Given the description of an element on the screen output the (x, y) to click on. 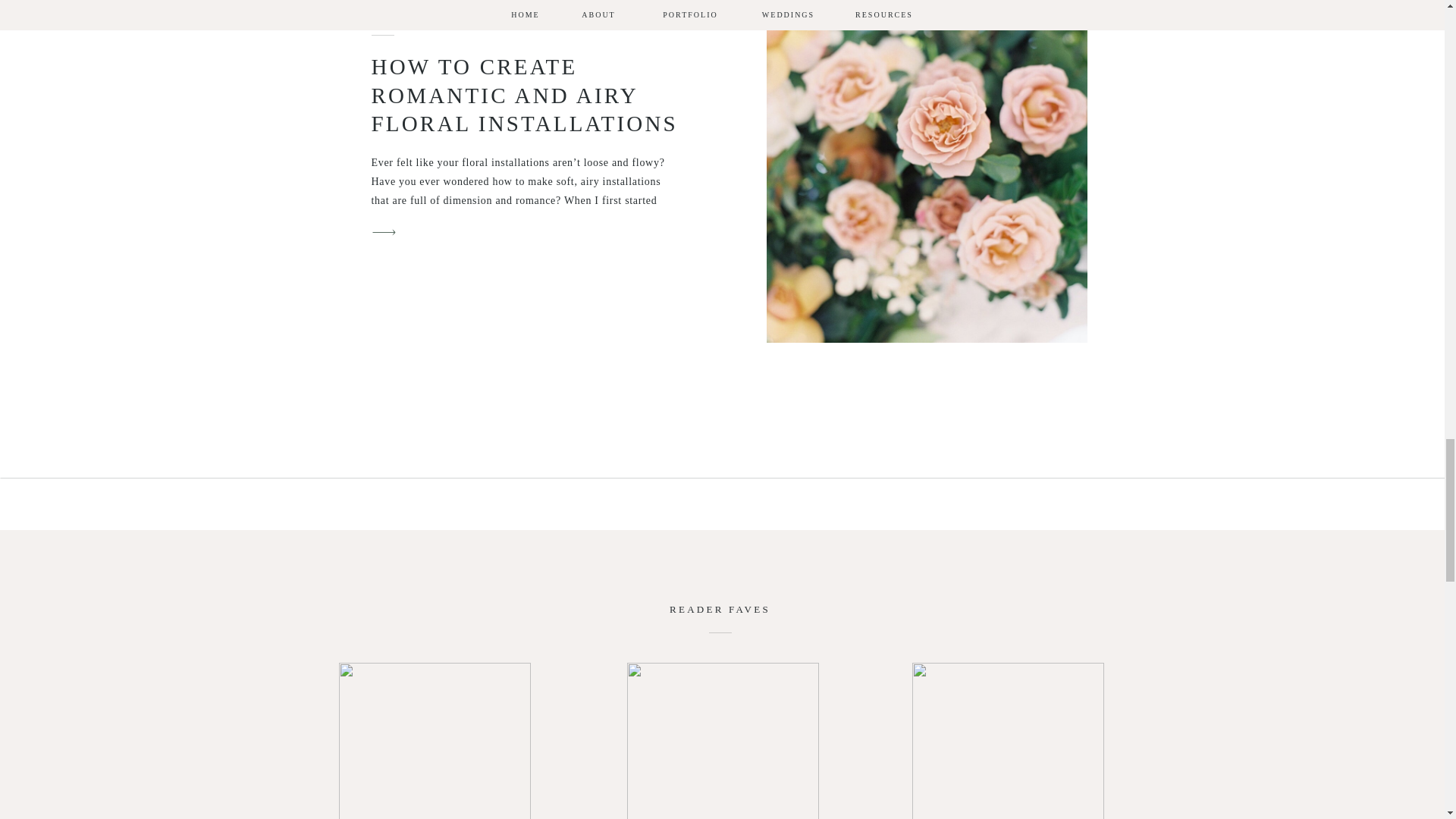
How to Create Romantic and Airy Floral Installations (925, 171)
How to Create Romantic and Airy Floral Installations (383, 232)
How to Stand Out To Your Dream Clients (1007, 740)
arrow (383, 232)
